Given the description of an element on the screen output the (x, y) to click on. 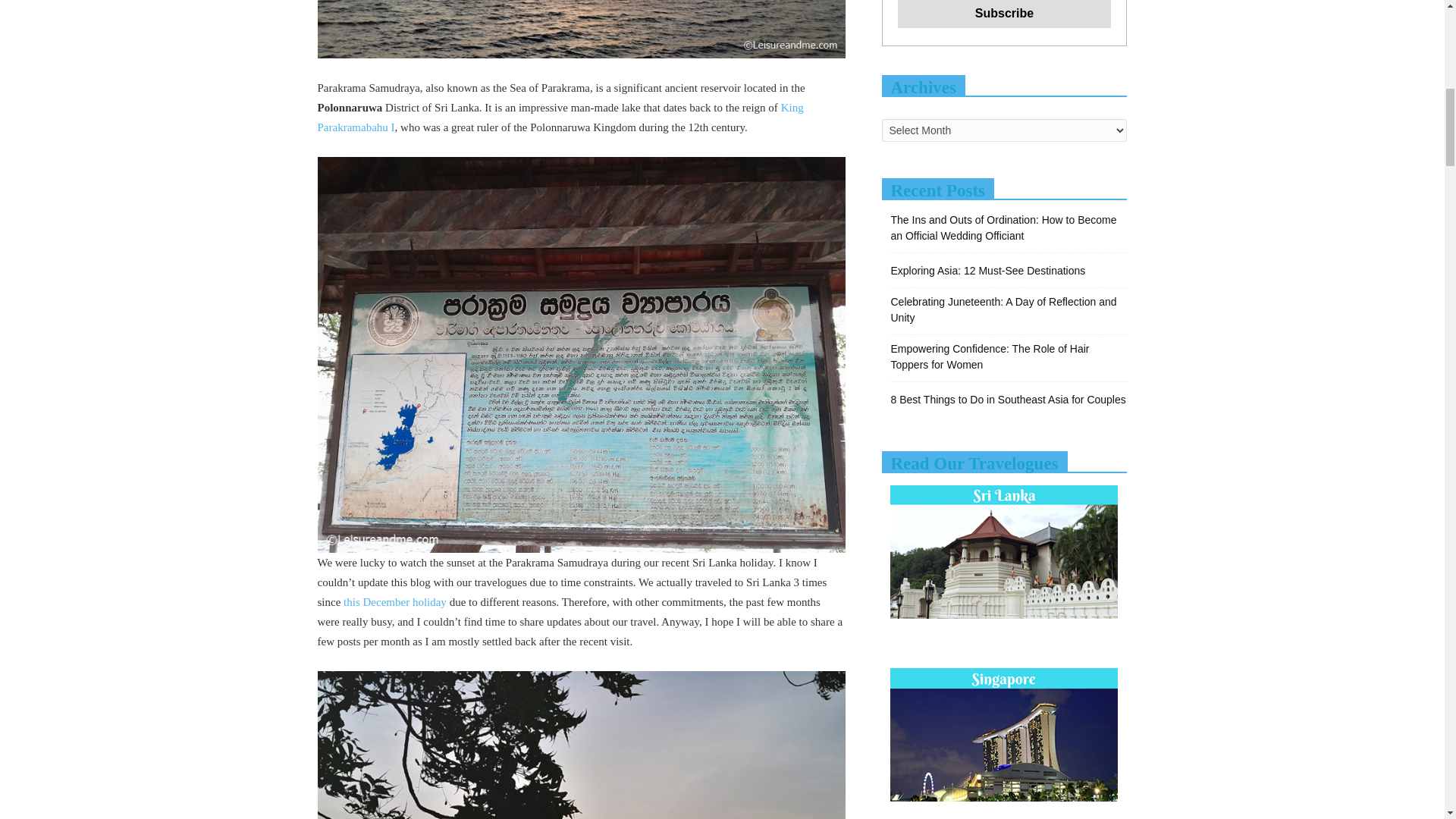
Parakrama-Samudraya-Sri-Lanka (580, 29)
Subscribe (1005, 13)
King Parakramabahu I (560, 117)
this December holiday (394, 602)
